Given the description of an element on the screen output the (x, y) to click on. 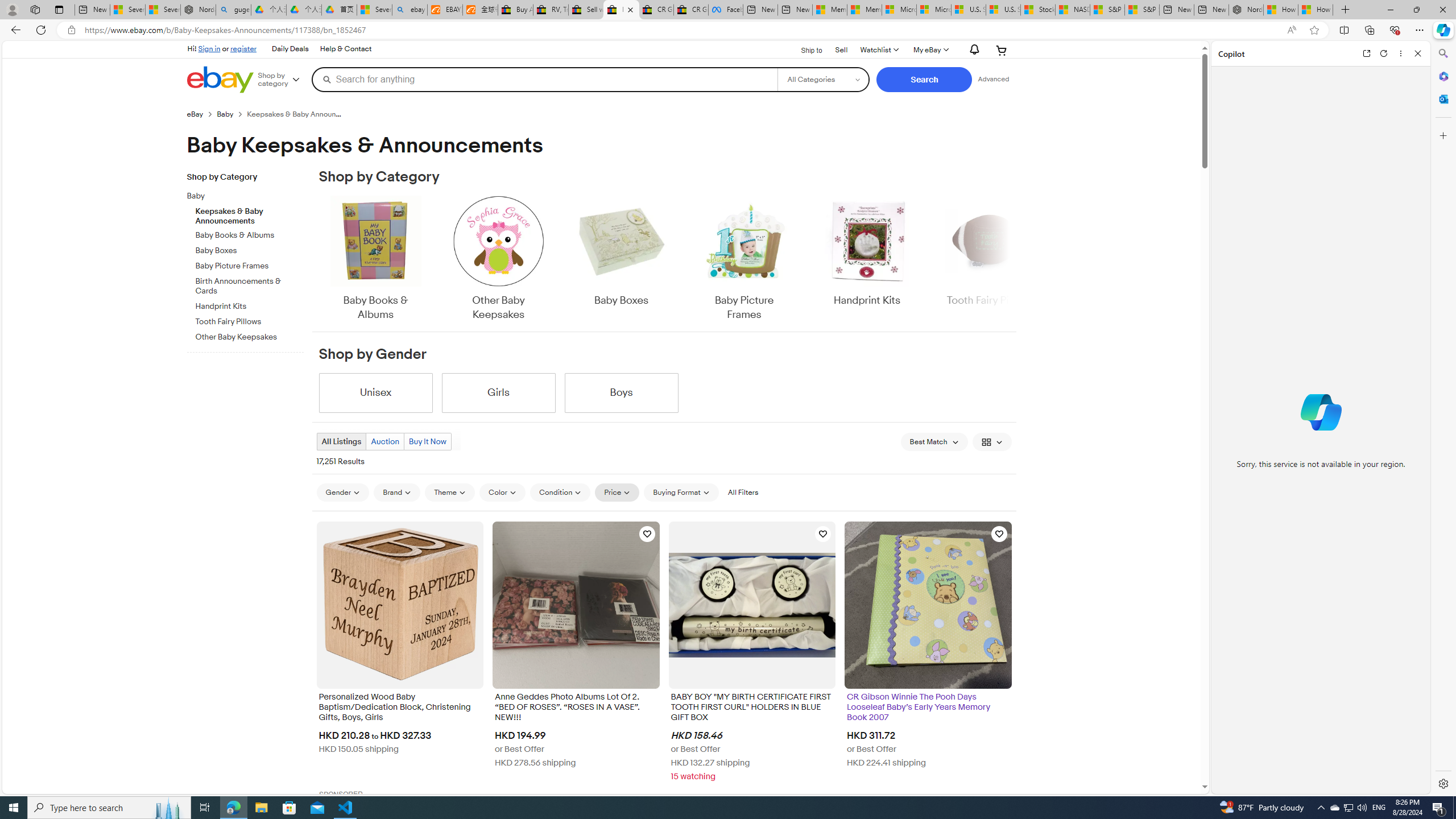
Sell (841, 49)
Theme (450, 492)
More options (1401, 53)
guge yunpan - Search (233, 9)
Baby (249, 194)
Baby Picture Frames (743, 258)
Birth Announcements & Cards (249, 286)
AutomationID: gh-eb-Alerts (972, 49)
Side bar (1443, 418)
Advanced Search (993, 78)
How to Use a Monitor With Your Closed Laptop (1315, 9)
